Given the description of an element on the screen output the (x, y) to click on. 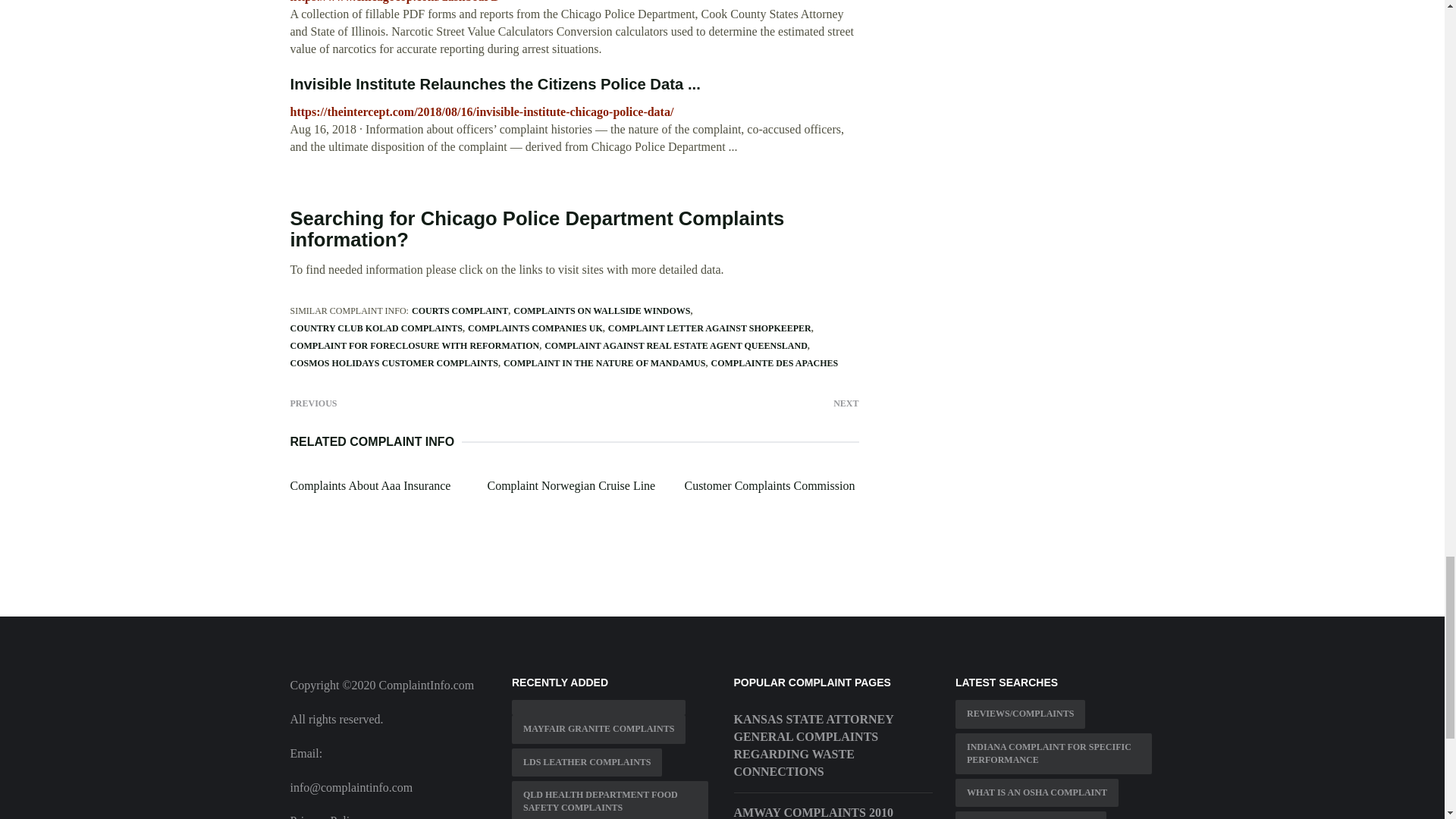
Invisible Institute Relaunches the Citizens Police Data ... (494, 84)
COMPLAINT LETTER AGAINST SHOPKEEPER (709, 327)
COMPLAINTS COMPANIES UK (534, 327)
COMPLAINT FOR FORECLOSURE WITH REFORMATION (413, 345)
COUNTRY CLUB KOLAD COMPLAINTS (375, 327)
COMPLAINT IN THE NATURE OF MANDAMUS (604, 362)
COMPLAINT AGAINST REAL ESTATE AGENT QUEENSLAND (676, 345)
COURTS COMPLAINT (460, 310)
COMPLAINTS ON WALLSIDE WINDOWS (601, 310)
COSMOS HOLIDAYS CUSTOMER COMPLAINTS (393, 362)
